Given the description of an element on the screen output the (x, y) to click on. 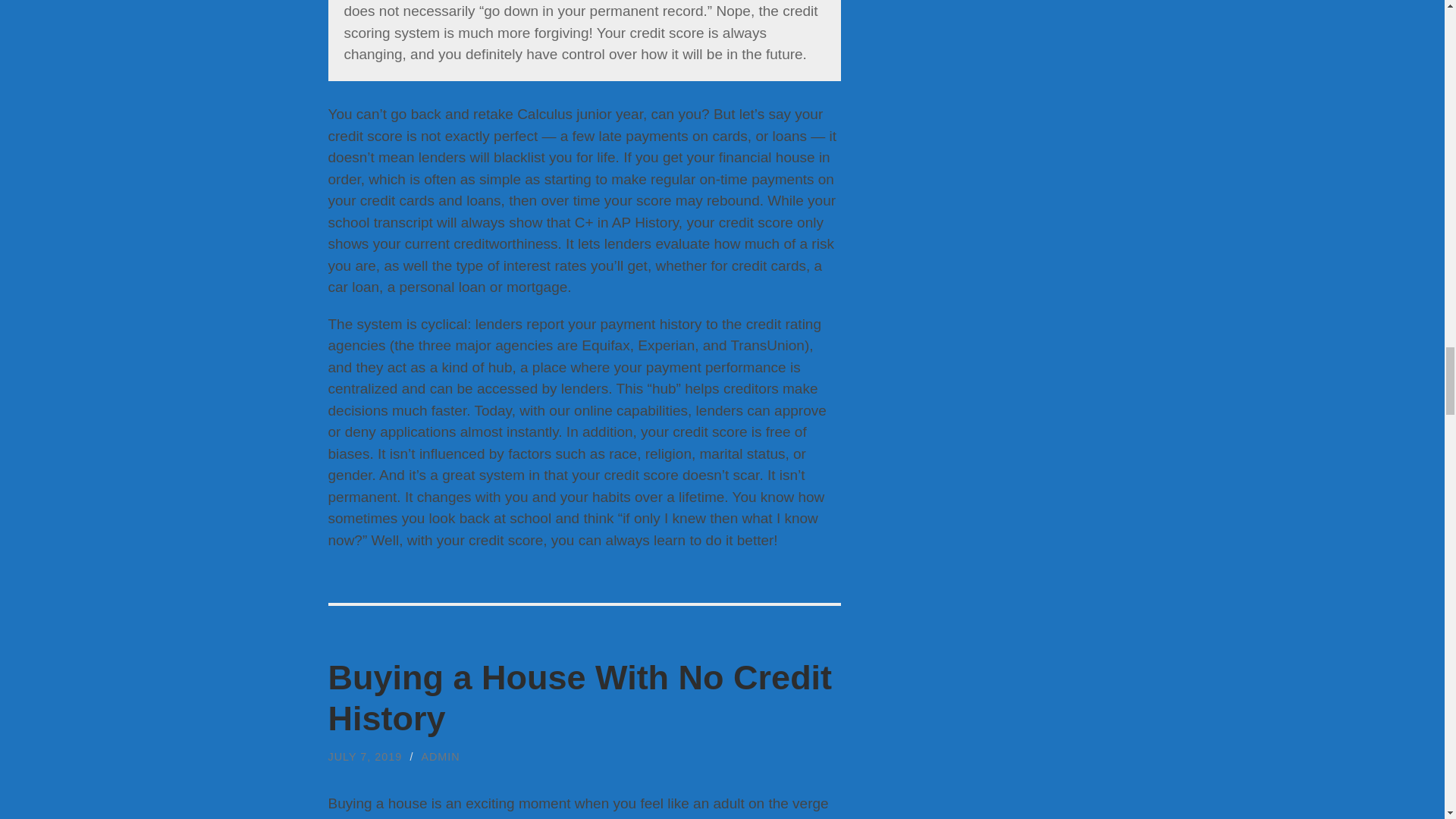
Posts by admin (440, 756)
